Given the description of an element on the screen output the (x, y) to click on. 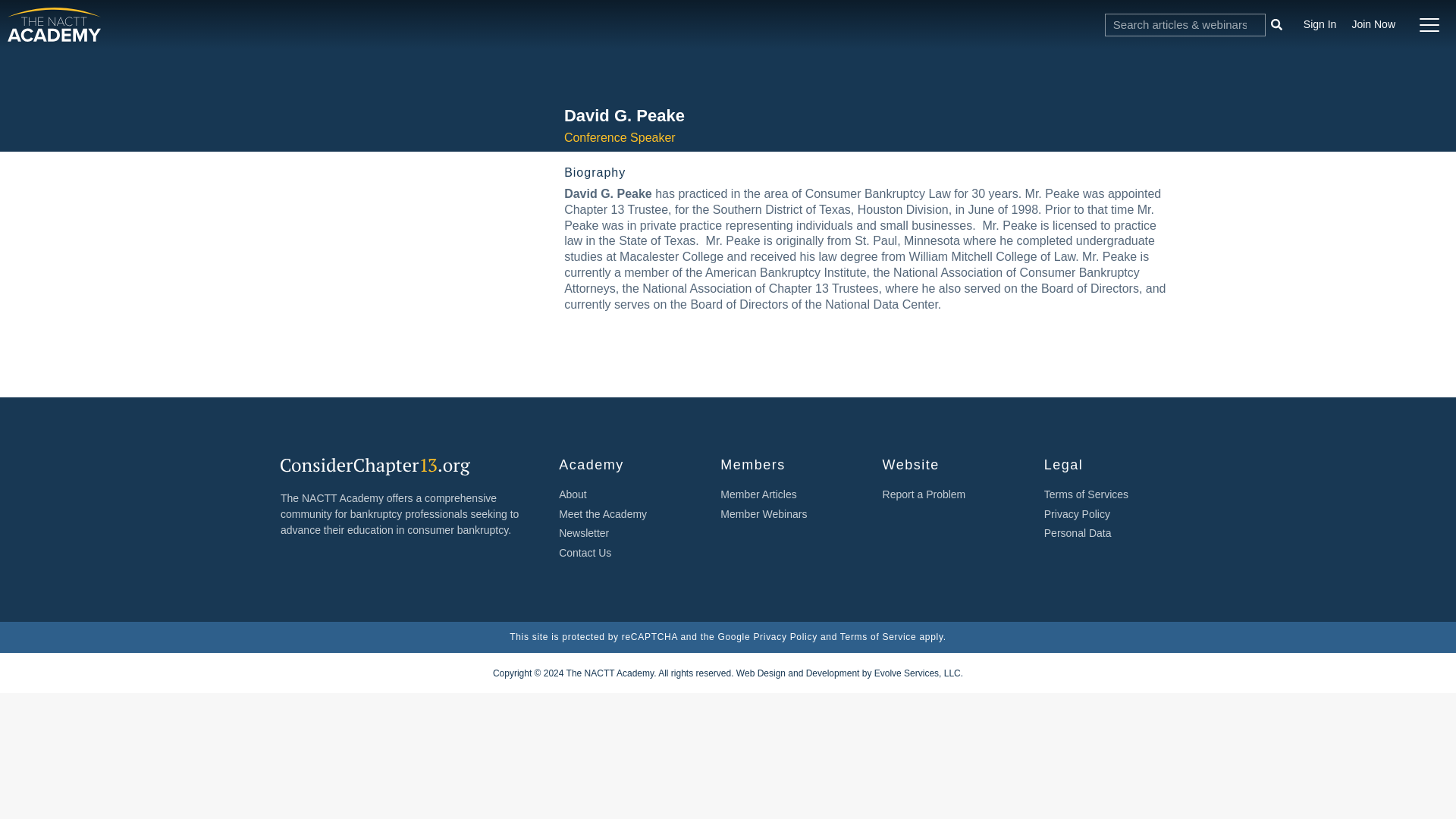
Member Articles (785, 494)
Terms of Services (1108, 494)
Privacy Policy (1108, 514)
Meet the Academy (624, 514)
About (624, 494)
Contact Us (624, 553)
Member Webinars (785, 514)
Newsletter (624, 533)
Privacy Policy (784, 636)
Report a Problem (947, 494)
Join Now (1372, 24)
Personal Data (1108, 533)
Sign In (1319, 24)
